Given the description of an element on the screen output the (x, y) to click on. 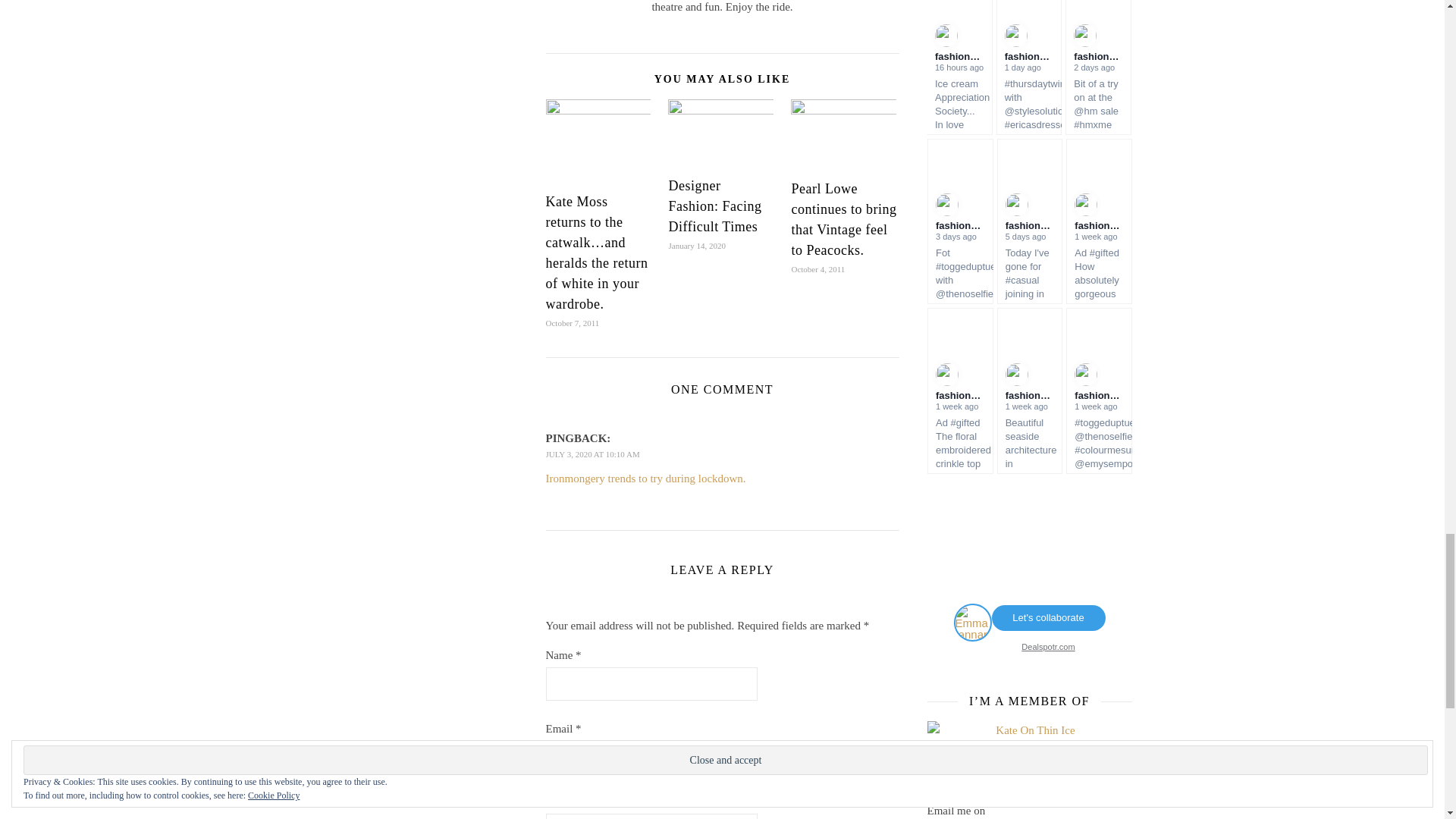
JULY 3, 2020 AT 10:10 AM (593, 453)
Pearl Lowe continues to bring that Vintage feel to Peacocks. (843, 218)
Designer Fashion: Facing Difficult Times (714, 206)
Ironmongery trends to try during lockdown. (645, 478)
